Given the description of an element on the screen output the (x, y) to click on. 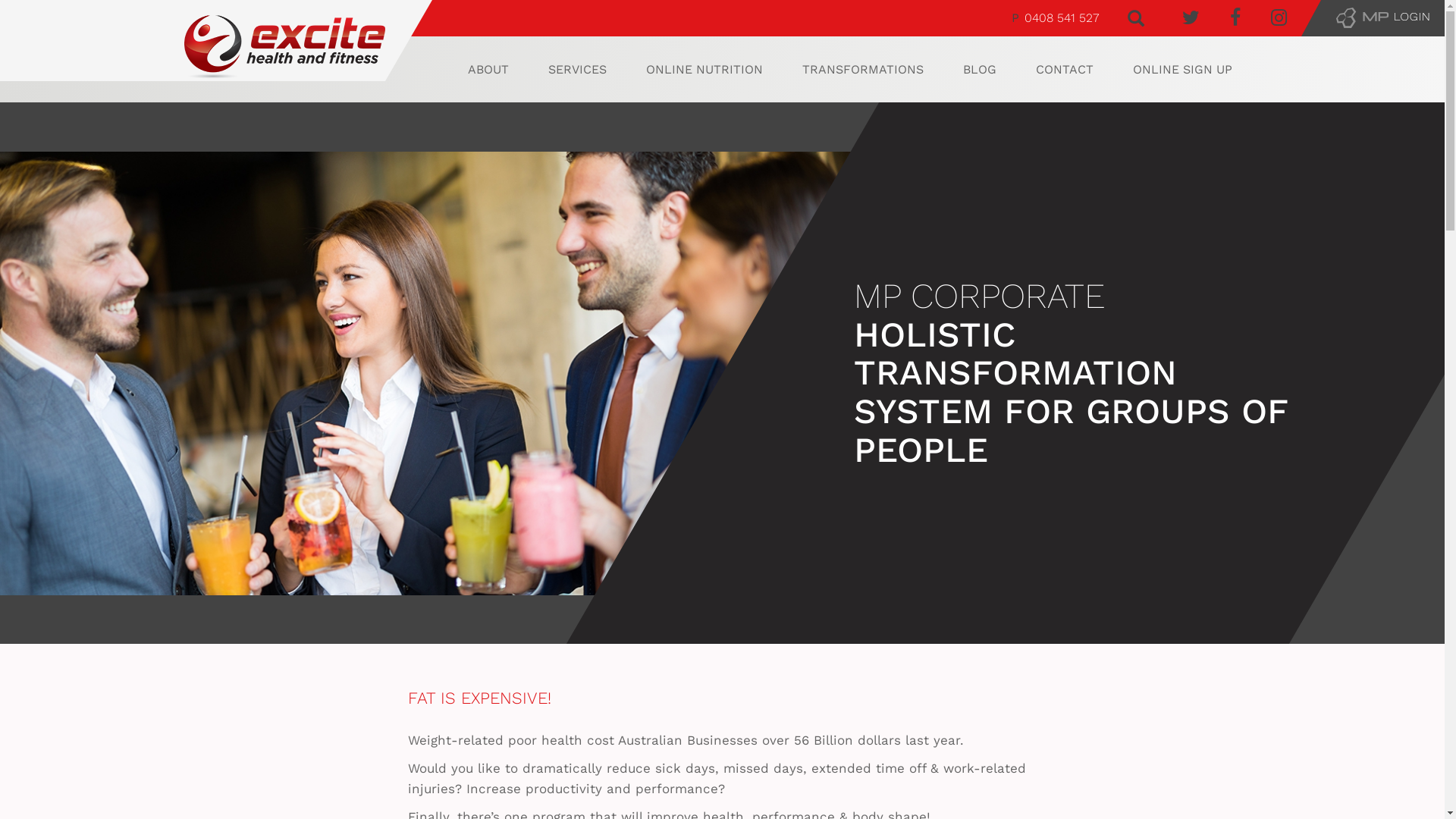
Submit Element type: text (45, 19)
Go Element type: text (17, 20)
TRANSFORMATIONS Element type: text (862, 69)
BLOG Element type: text (979, 69)
ONLINE NUTRITION Element type: text (704, 69)
SERVICES Element type: text (576, 69)
CONTACT Element type: text (1064, 69)
ONLINE SIGN UP Element type: text (1182, 69)
ABOUT Element type: text (487, 69)
